Given the description of an element on the screen output the (x, y) to click on. 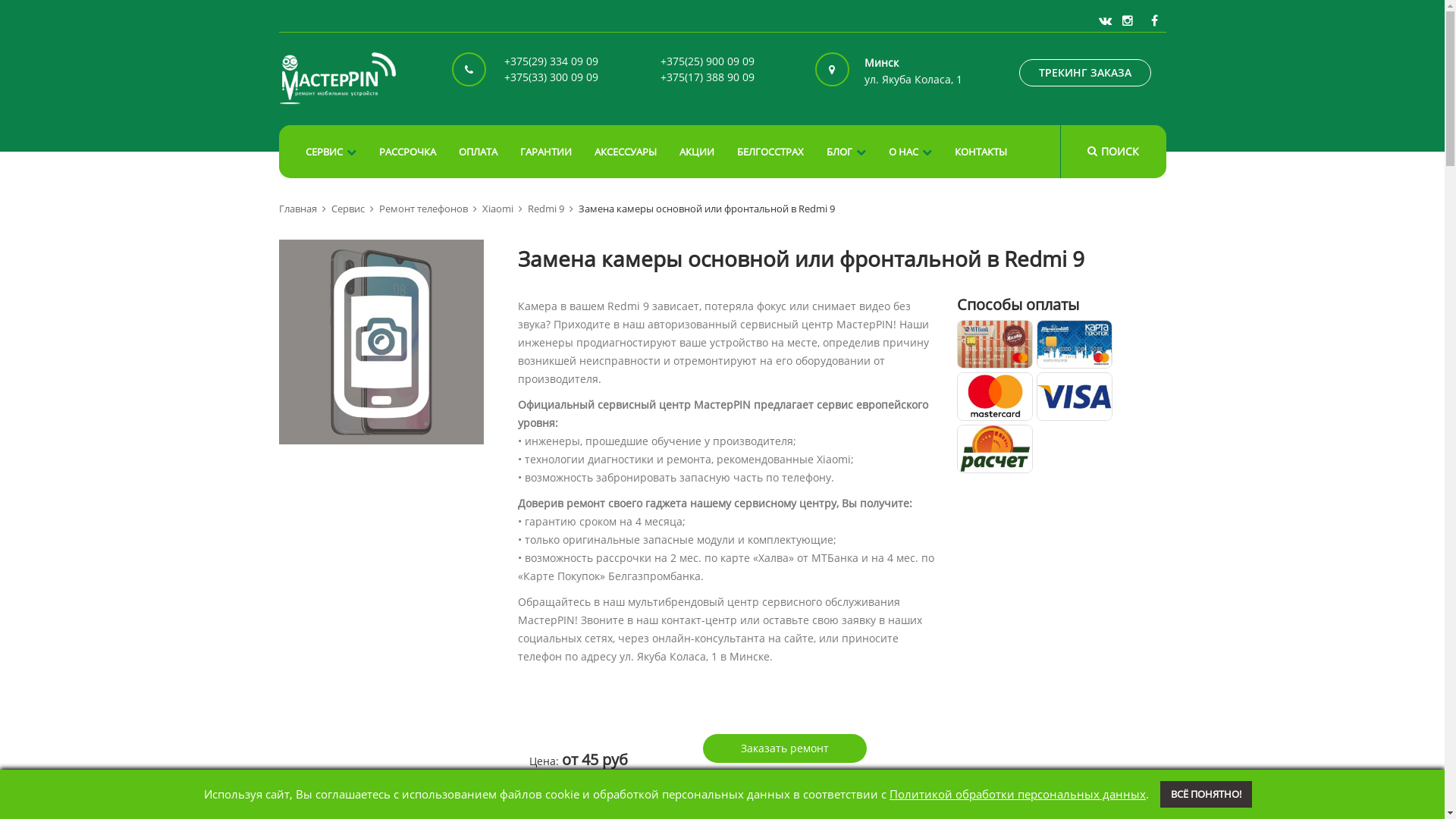
+375(25) 900 09 09 Element type: text (707, 63)
+375(33) 300 09 09 Element type: text (551, 79)
+375(29) 334 09 09 Element type: text (551, 63)
+375(17) 388 90 09 Element type: text (707, 79)
Redmi 9 Element type: text (550, 208)
Xiaomi Element type: text (502, 208)
